Given the description of an element on the screen output the (x, y) to click on. 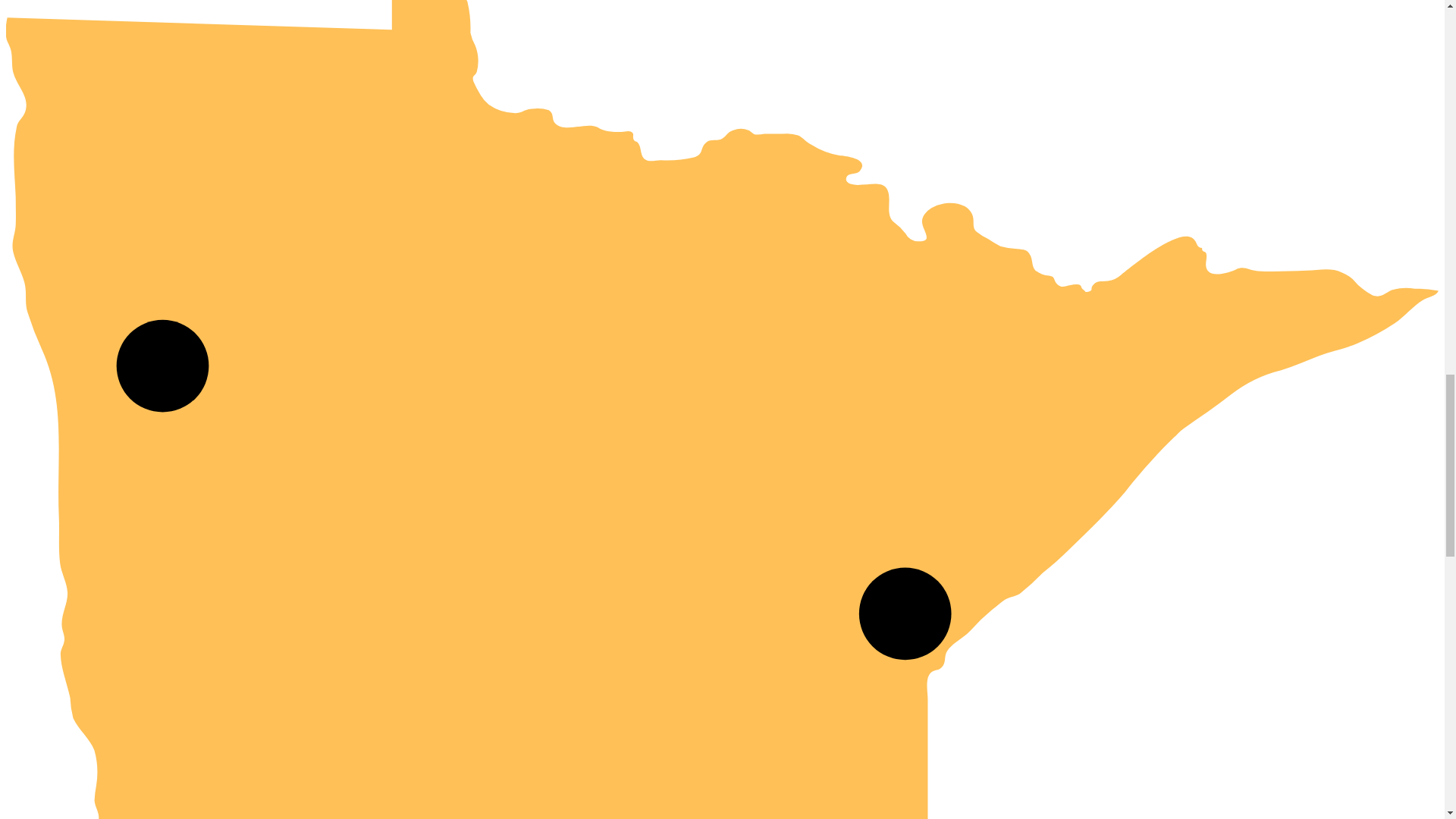
University of Minnesota Crookston (162, 365)
University of Minnesota Duluth (904, 614)
